Given the description of an element on the screen output the (x, y) to click on. 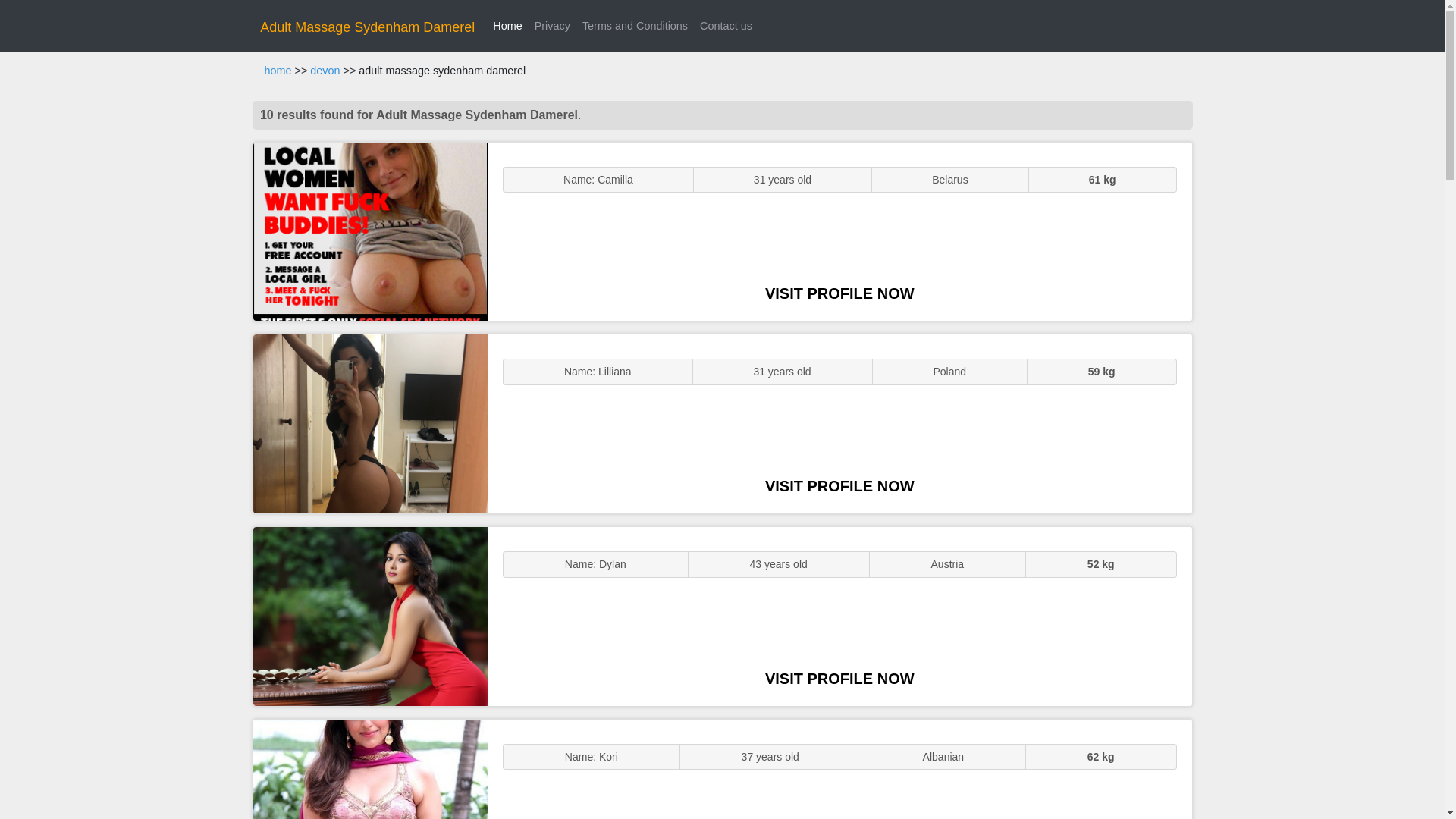
Sluts (370, 769)
VISIT PROFILE NOW (839, 293)
Privacy (552, 25)
GFE (370, 423)
home (277, 70)
Adult Massage Sydenham Damerel (367, 27)
VISIT PROFILE NOW (839, 678)
devon (324, 70)
 ENGLISH STUNNER (370, 231)
Sexy (370, 616)
Contact us (726, 25)
VISIT PROFILE NOW (839, 485)
Terms and Conditions (635, 25)
